Given the description of an element on the screen output the (x, y) to click on. 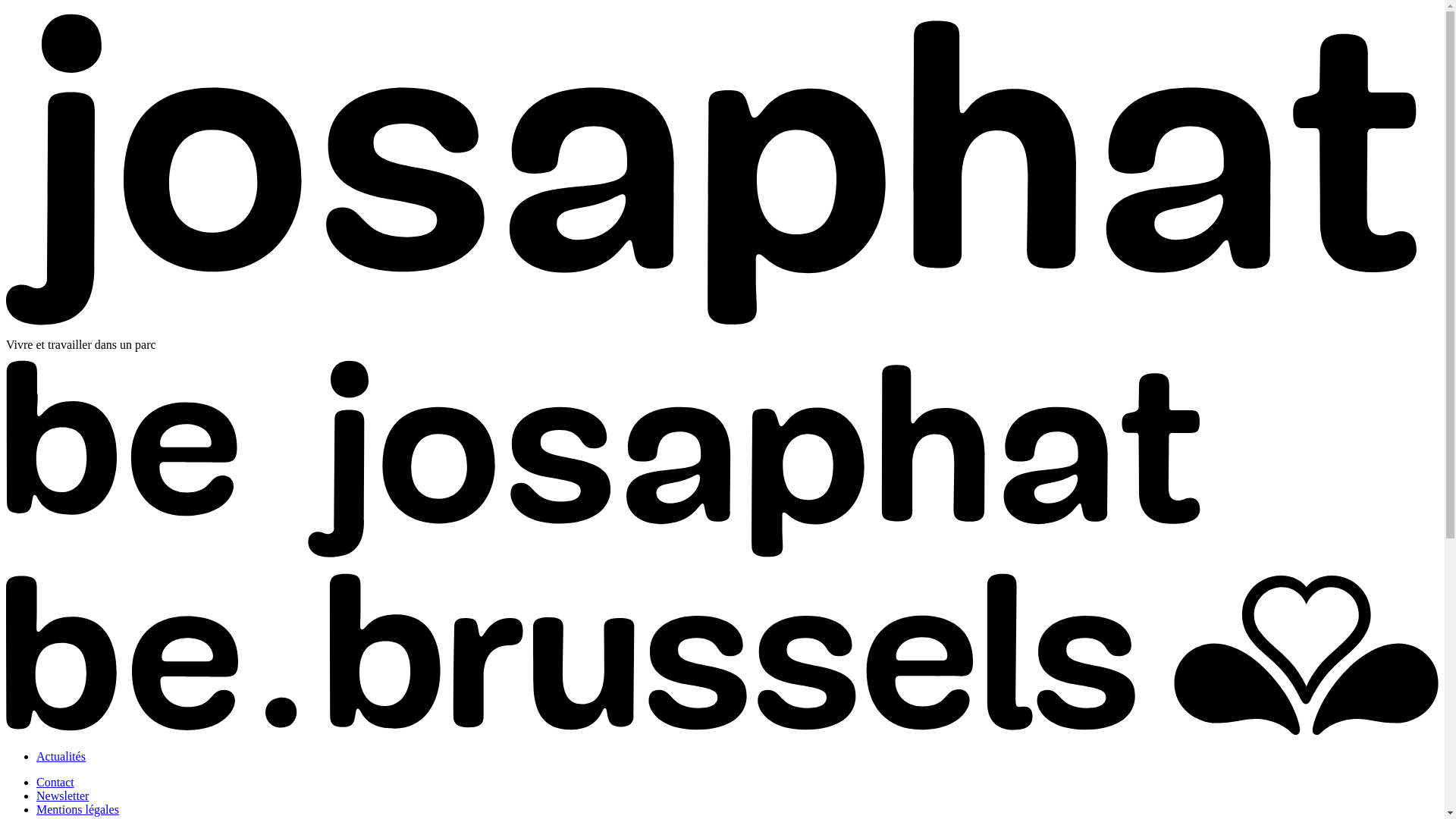
Contact Element type: text (55, 781)
Aller au contenu principal Element type: text (6, 6)
Newsletter Element type: text (62, 795)
